Given the description of an element on the screen output the (x, y) to click on. 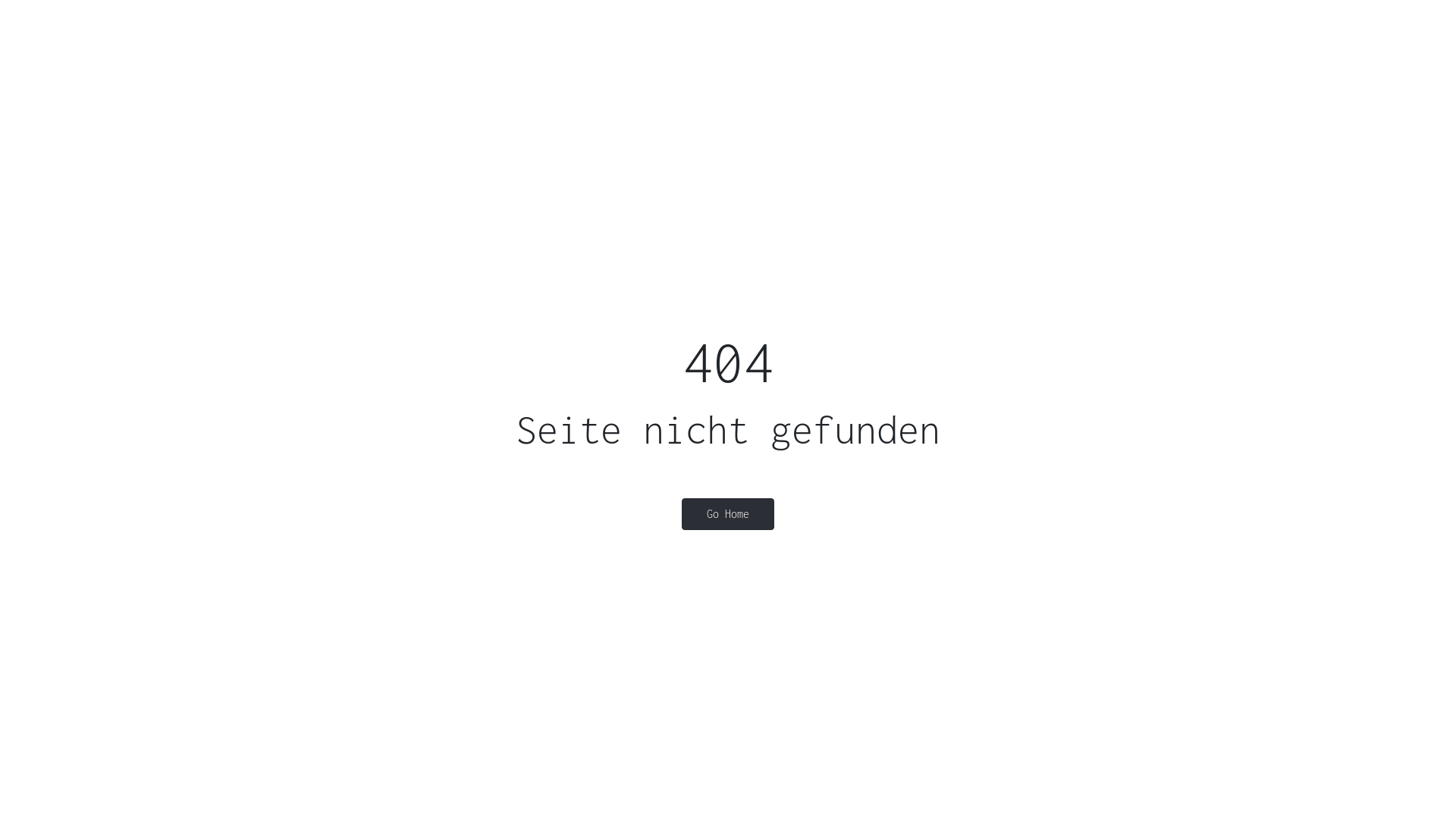
Go Home Element type: text (727, 514)
